Given the description of an element on the screen output the (x, y) to click on. 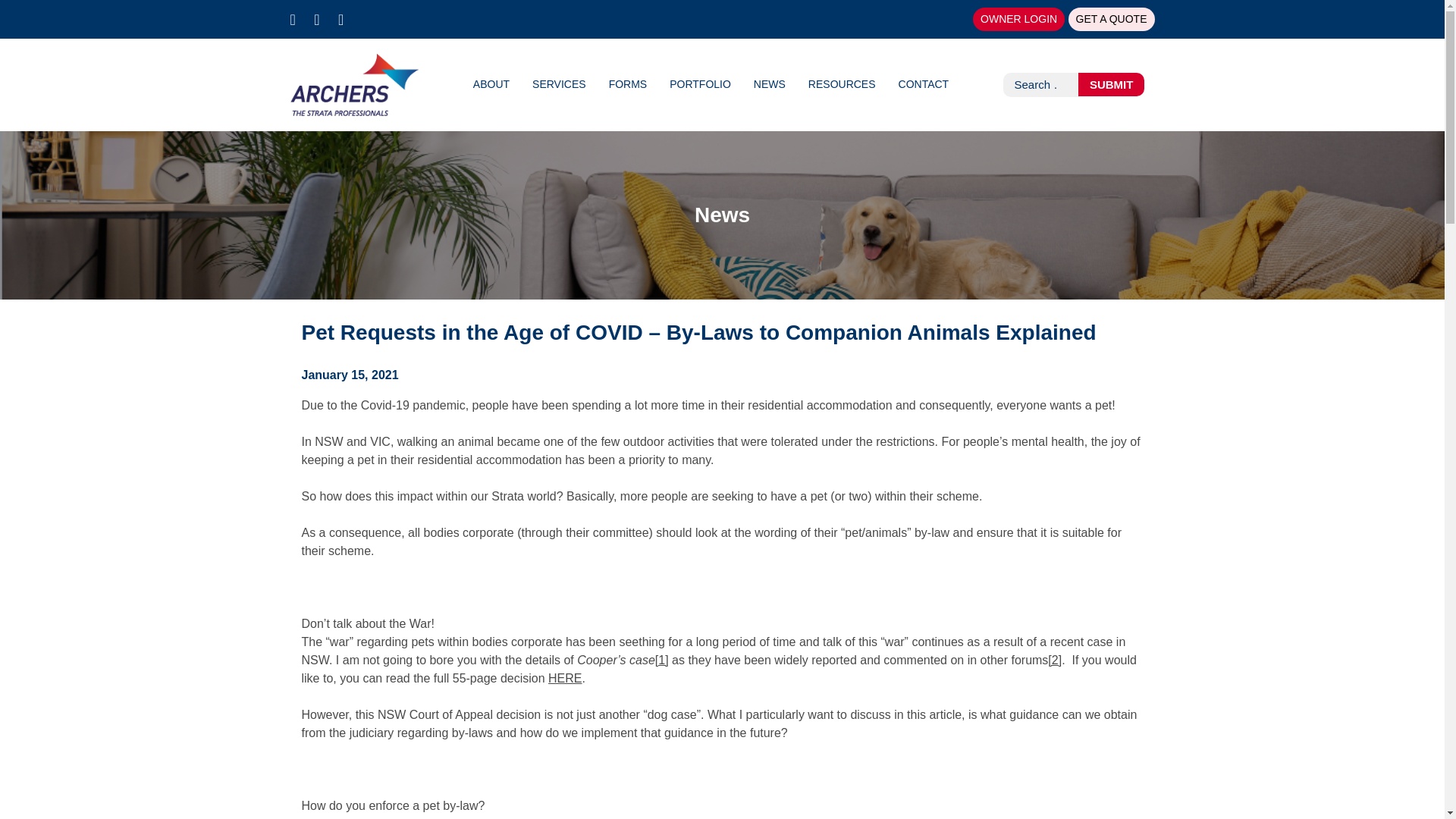
NEWS (770, 83)
SERVICES (559, 83)
FORMS (627, 83)
OWNER LOGIN (1018, 19)
CONTACT (923, 83)
PORTFOLIO (699, 83)
ABOUT (491, 83)
SUBMIT (1111, 84)
GET A QUOTE (1111, 19)
HERE (564, 677)
